Given the description of an element on the screen output the (x, y) to click on. 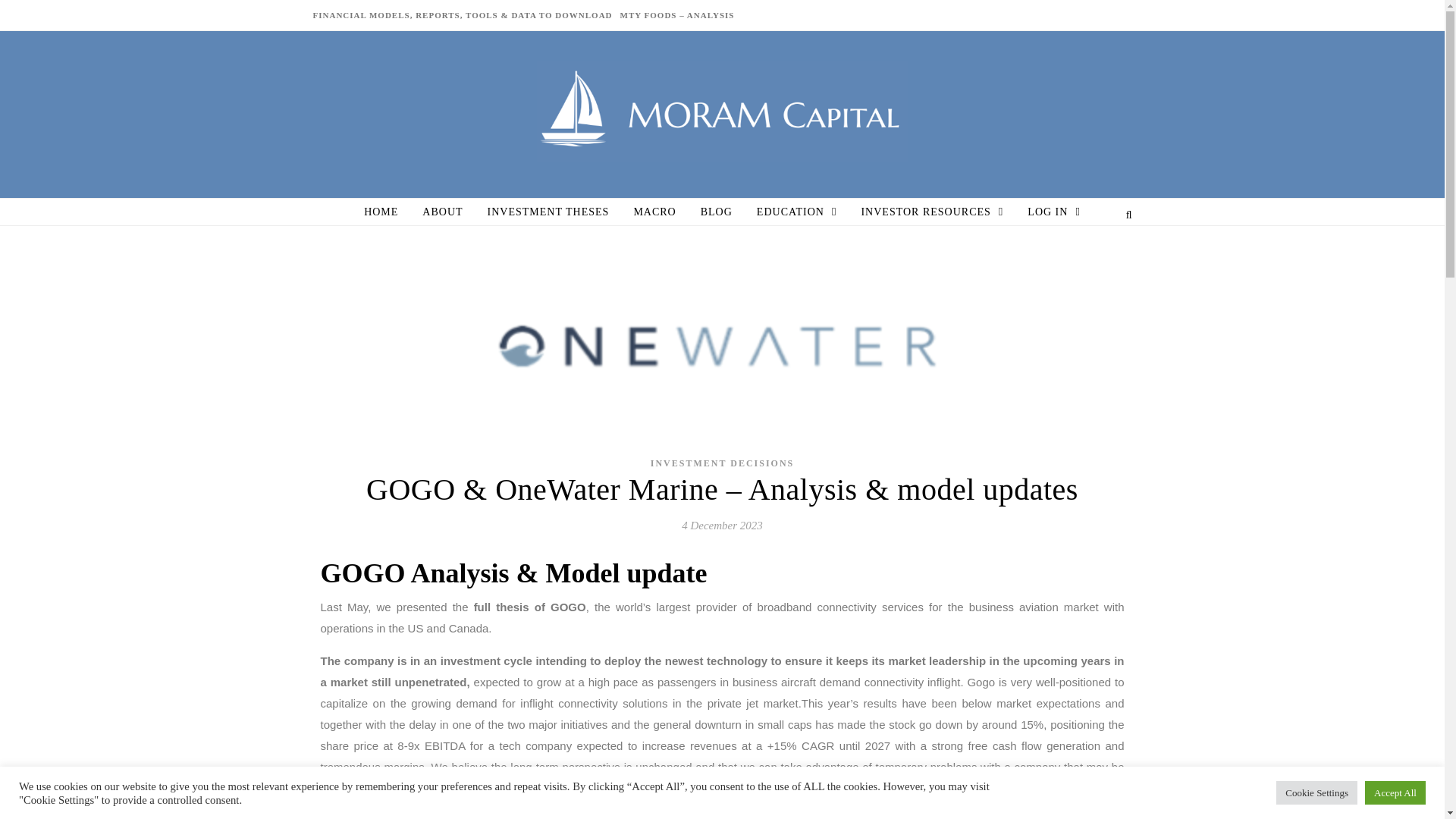
INVESTMENT THESES (548, 212)
LOG IN (1047, 212)
INVESTOR RESOURCES (931, 212)
MACRO (654, 212)
ABOUT (442, 212)
HOME (387, 212)
EDUCATION (796, 212)
MORAM (722, 111)
INVESTMENT DECISIONS (722, 462)
BLOG (716, 212)
